Given the description of an element on the screen output the (x, y) to click on. 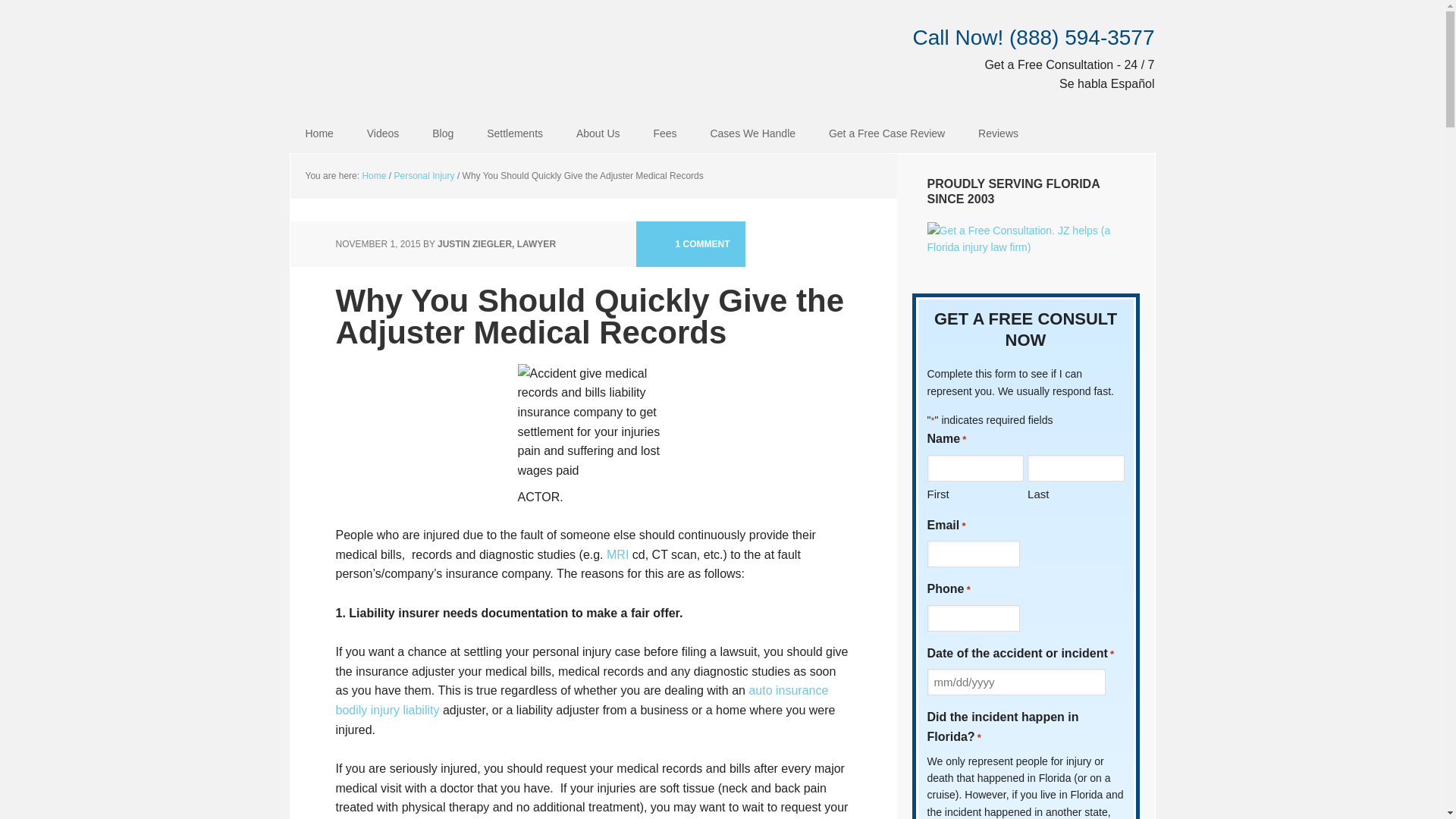
Settlements (514, 133)
About Us (597, 133)
Home (318, 133)
Fees (664, 133)
Cases We Handle (752, 133)
Settlements (514, 133)
Videos (383, 133)
Blog (442, 133)
